Given the description of an element on the screen output the (x, y) to click on. 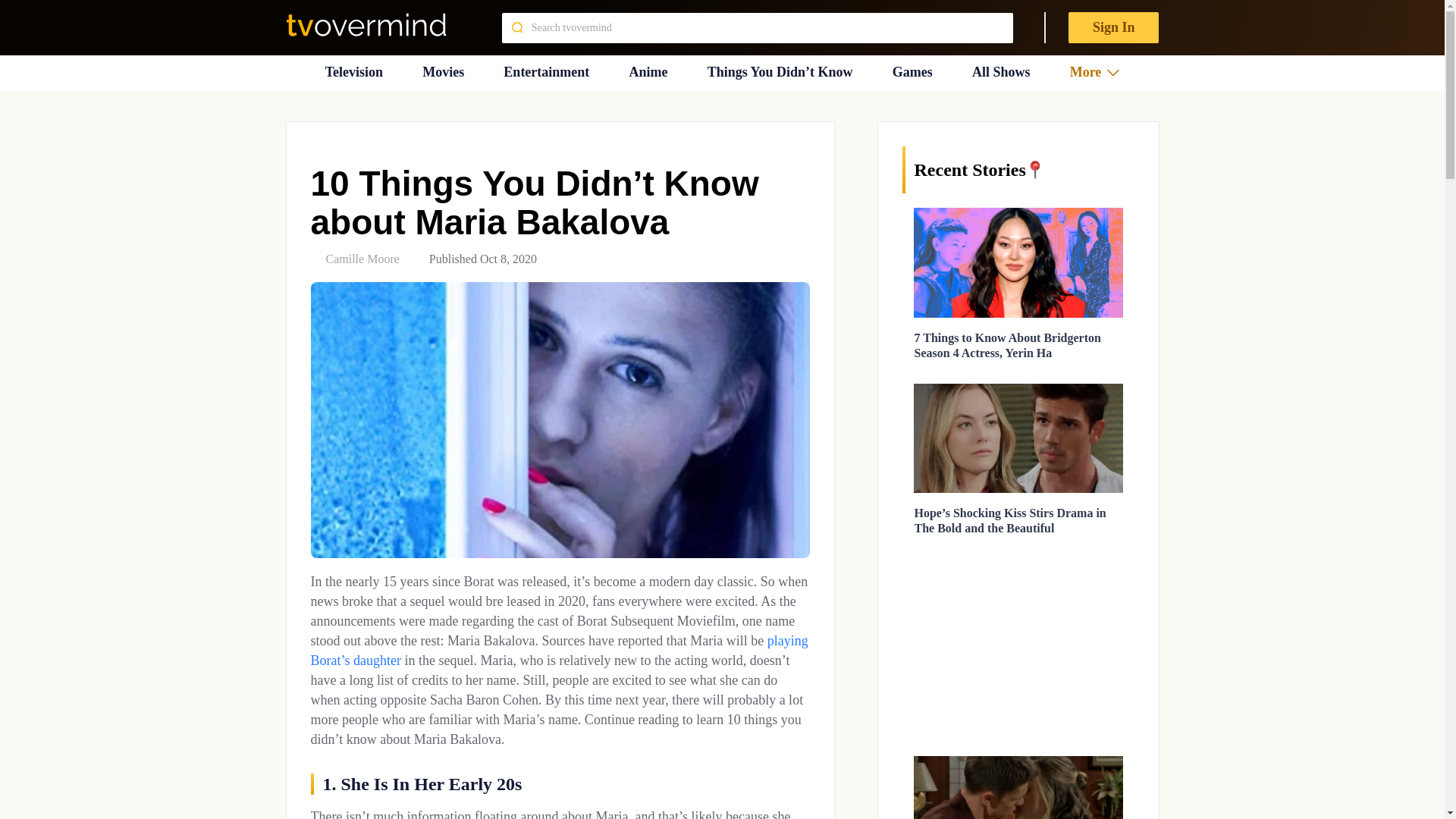
All Shows (1001, 72)
Movies (443, 72)
More (1094, 72)
TV News (353, 72)
Posts by Camille Moore (362, 258)
Entertainment (546, 72)
Television (353, 72)
7 Things to Know About Bridgerton Season 4 Actress, Yerin Ha (1007, 345)
Sign In (1113, 27)
Anime (648, 72)
